Given the description of an element on the screen output the (x, y) to click on. 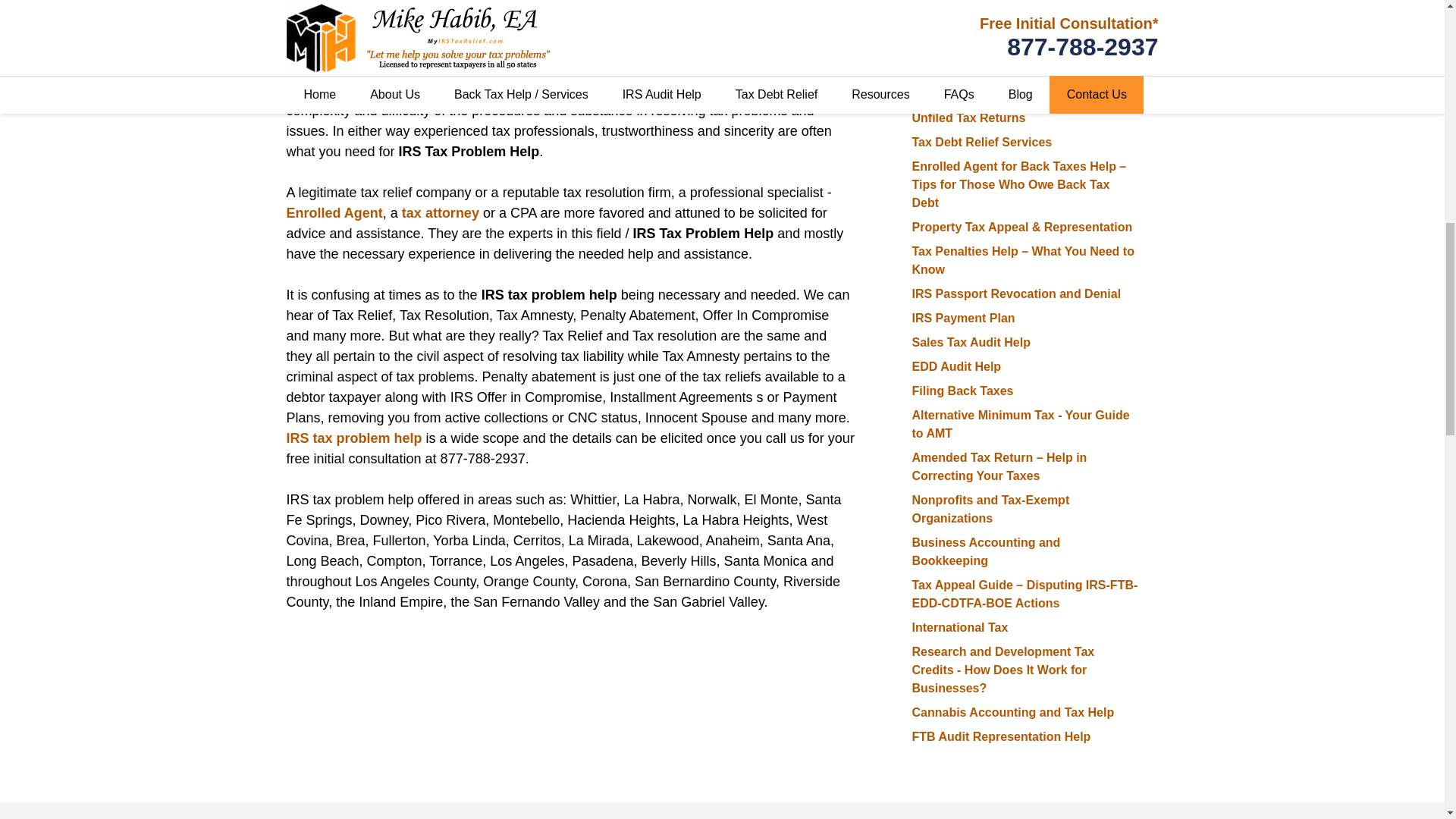
Enrolled Agent (334, 212)
IRS tax problem help (354, 437)
tax attorney (440, 212)
